Given the description of an element on the screen output the (x, y) to click on. 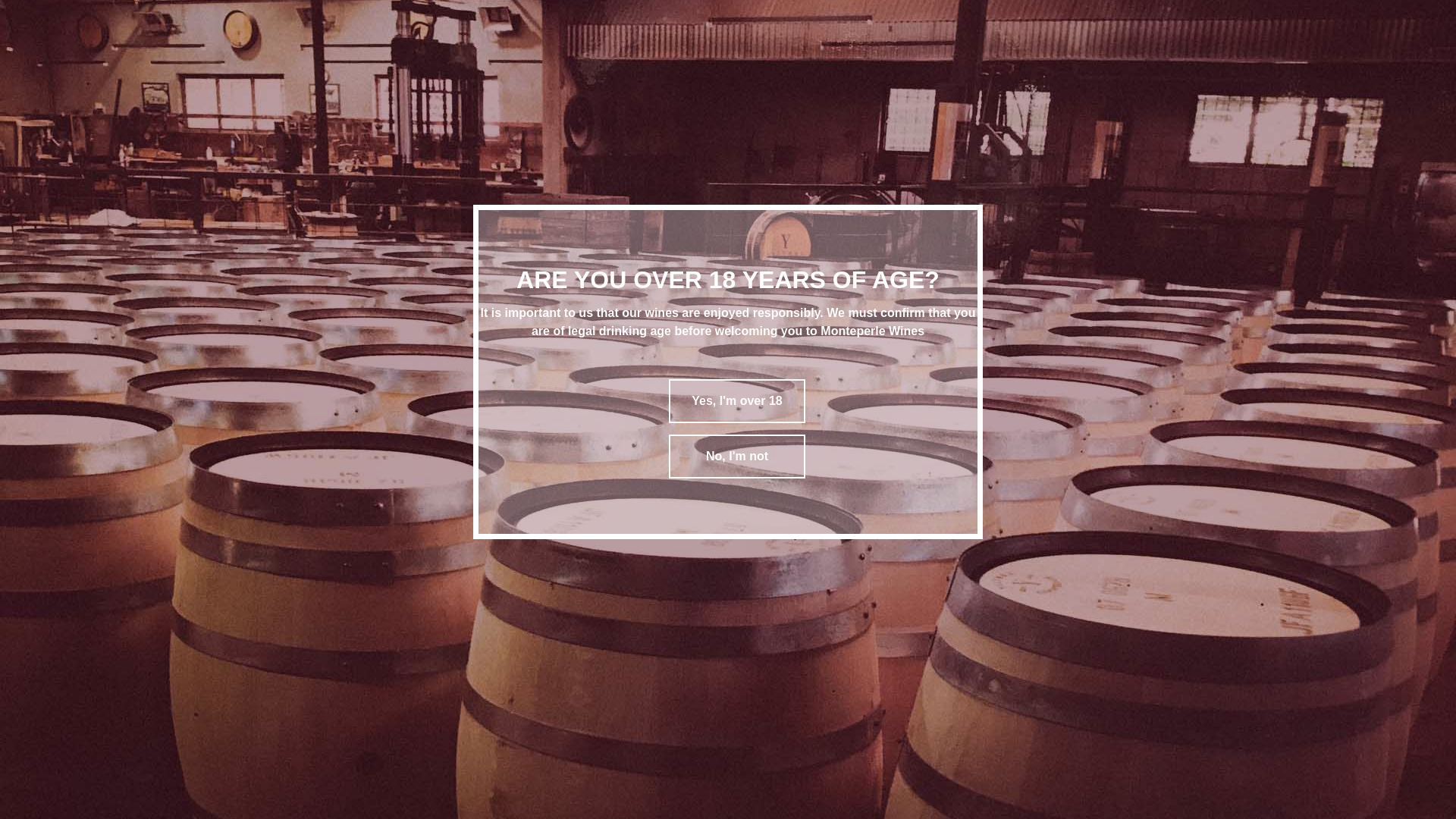
Yes, I'm over 18 Element type: text (736, 401)
No, I'm not Element type: text (736, 456)
